Given the description of an element on the screen output the (x, y) to click on. 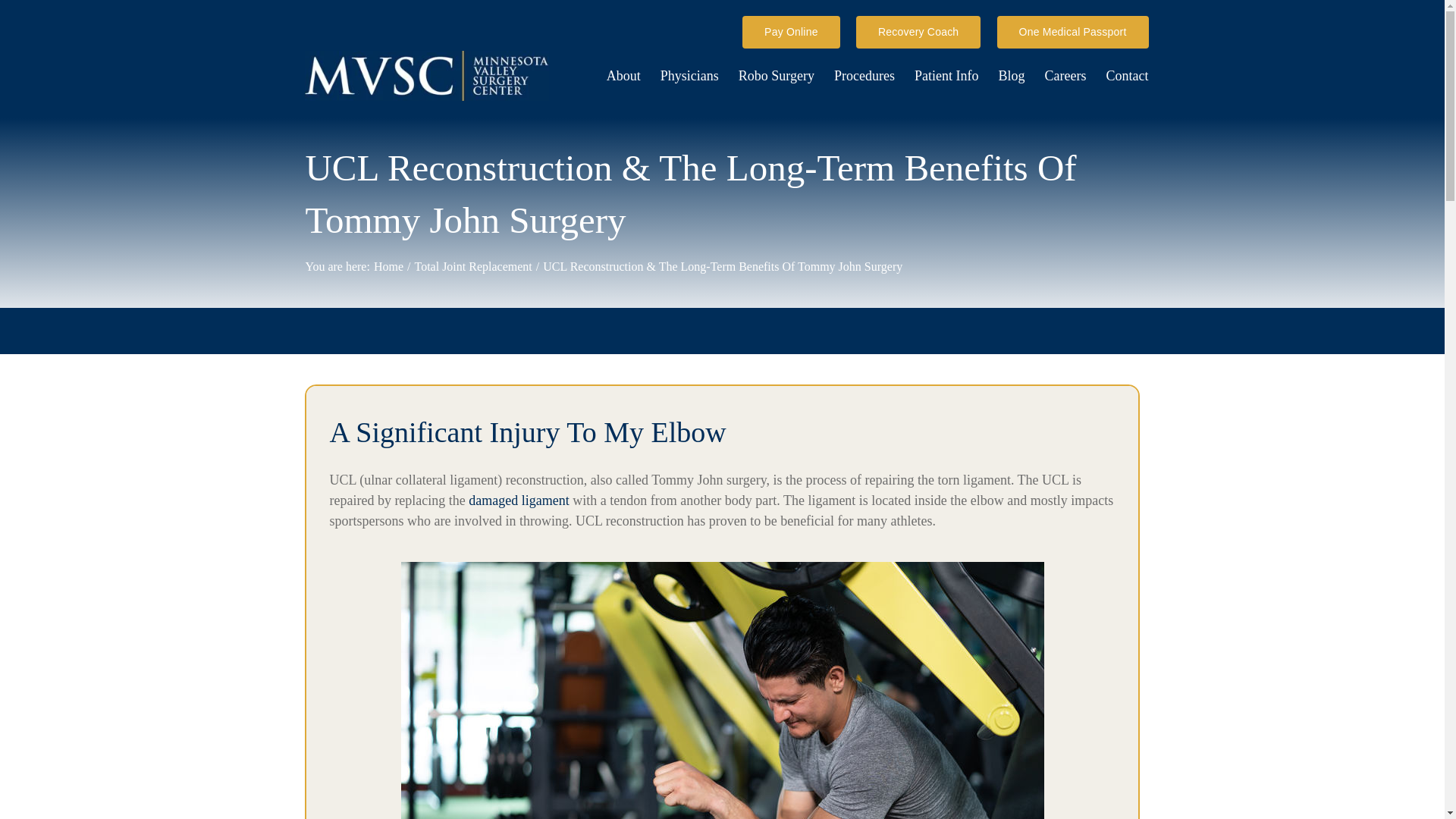
Recovery Coach (917, 31)
Total Joint Replacement (472, 266)
Pay Online (791, 31)
Careers (1065, 75)
Patient Info (946, 75)
damaged ligament (518, 500)
Blog (1011, 75)
Contact (1126, 75)
One Medical Passport (1072, 31)
Physicians (690, 75)
Procedures (864, 75)
Home (388, 266)
Robo Surgery (775, 75)
About (623, 75)
